Given the description of an element on the screen output the (x, y) to click on. 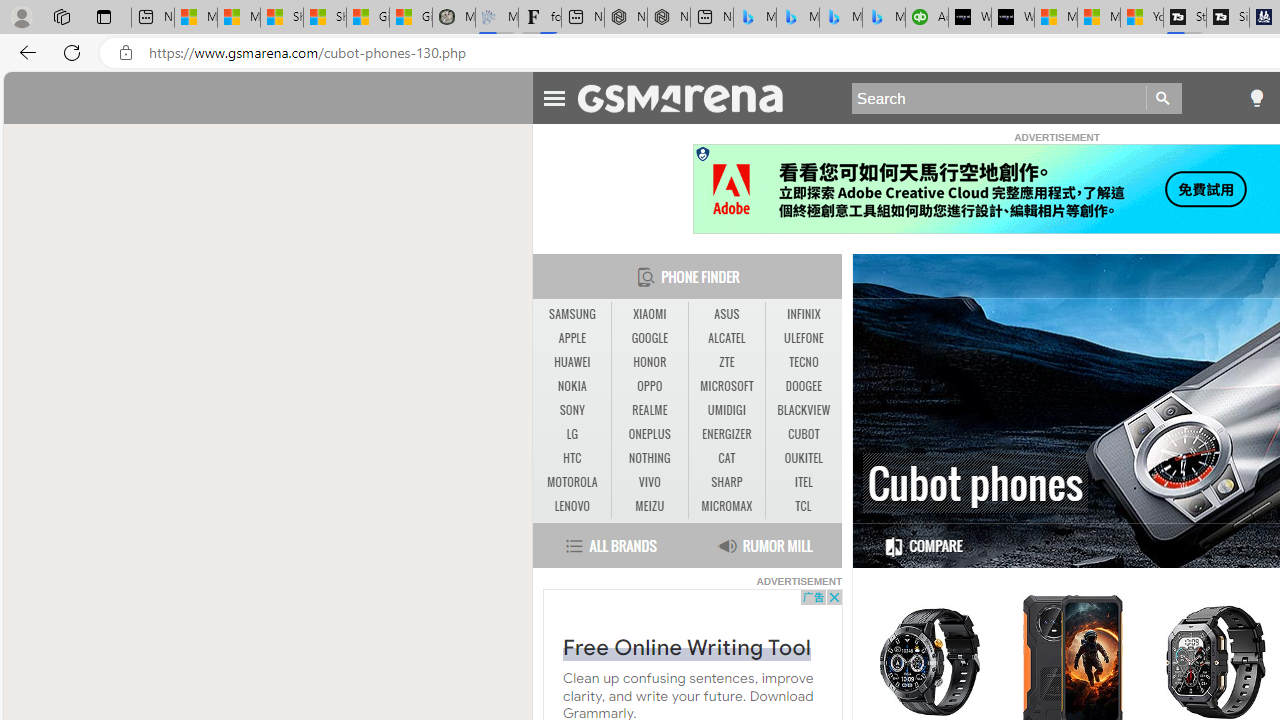
AutomationID: anchor (689, 97)
REALME (649, 411)
ZTE (726, 362)
HTC (571, 458)
REALME (649, 410)
LENOVO (571, 506)
SHARP (726, 483)
NOKIA (571, 386)
CUBOT (803, 434)
ENERGIZER (726, 434)
